Given the description of an element on the screen output the (x, y) to click on. 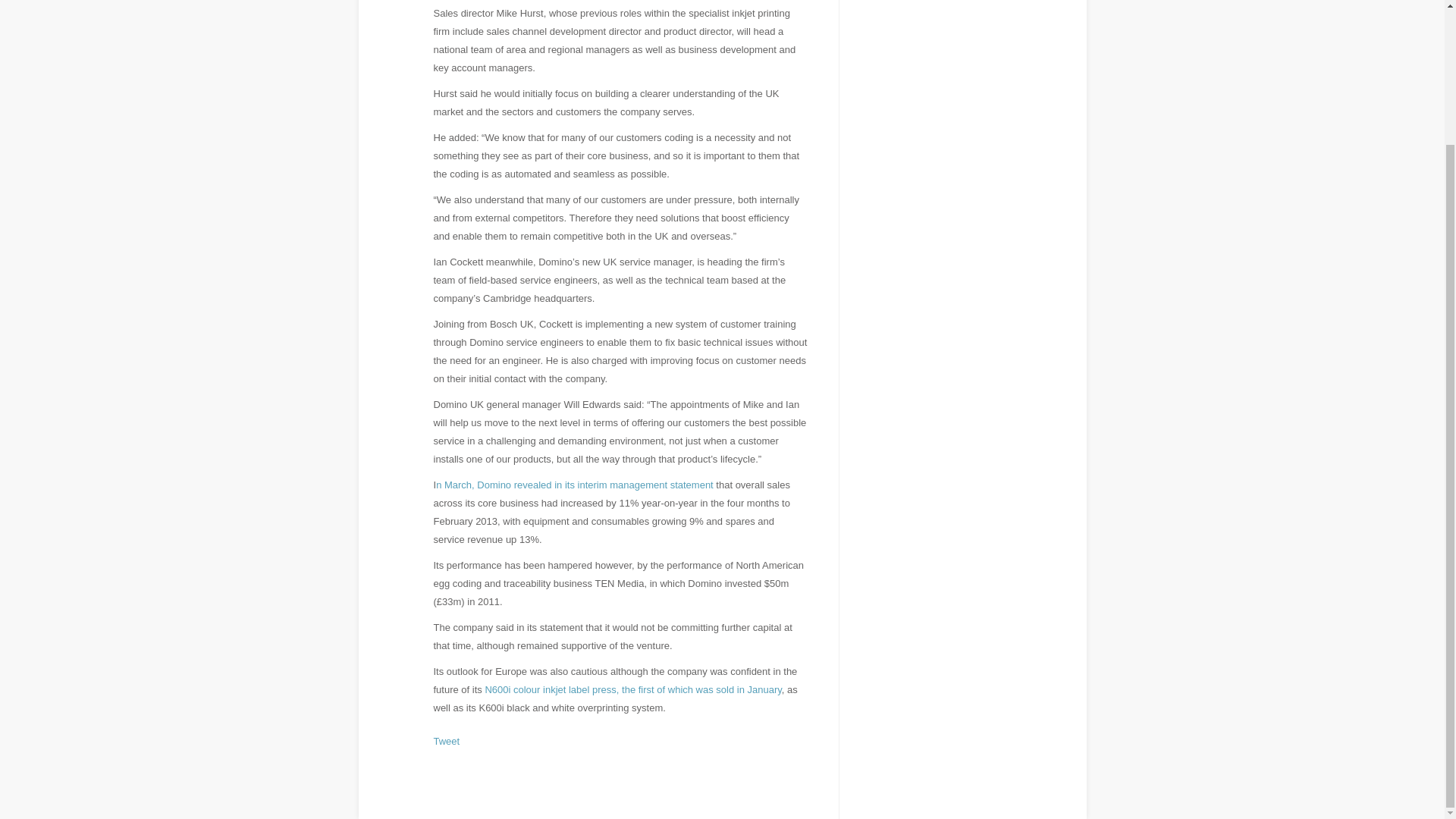
Tweet (446, 740)
n March, Domino revealed in its interim management statement (575, 484)
